Given the description of an element on the screen output the (x, y) to click on. 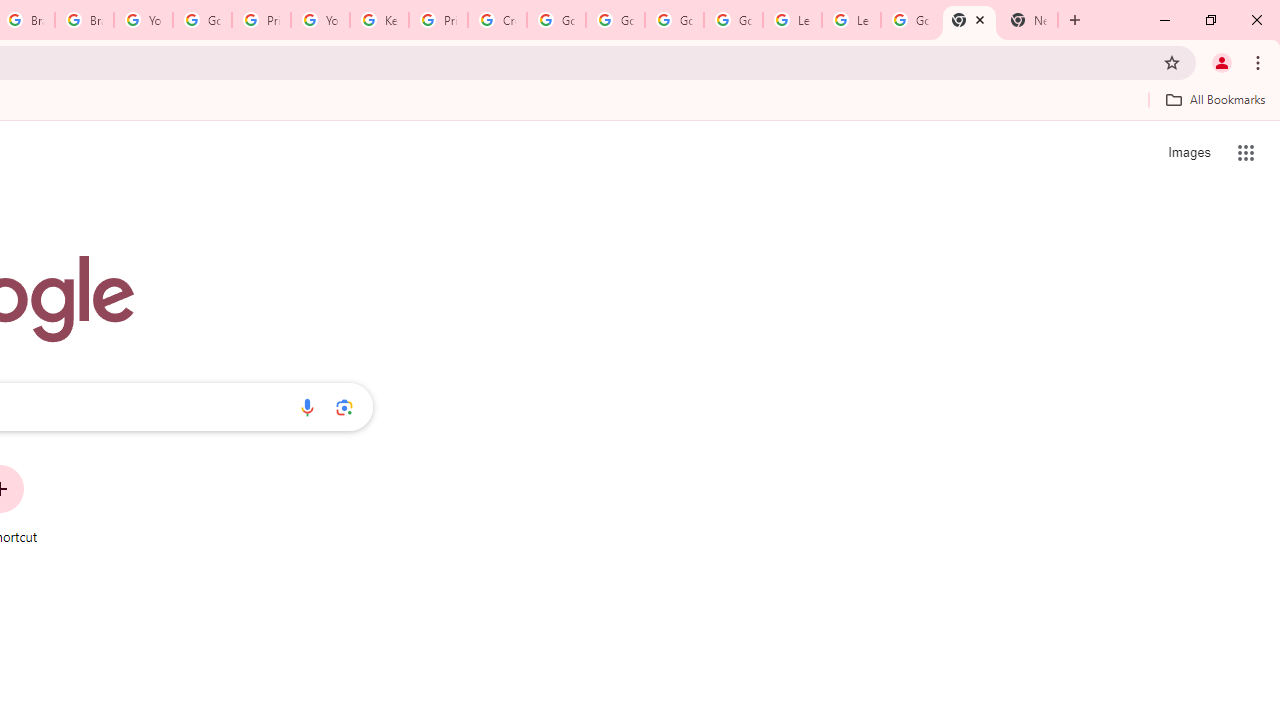
Google Account Help (556, 20)
New Tab (1028, 20)
Google Account Help (674, 20)
Google Account Help (615, 20)
Google Account Help (201, 20)
YouTube (319, 20)
YouTube (142, 20)
